Given the description of an element on the screen output the (x, y) to click on. 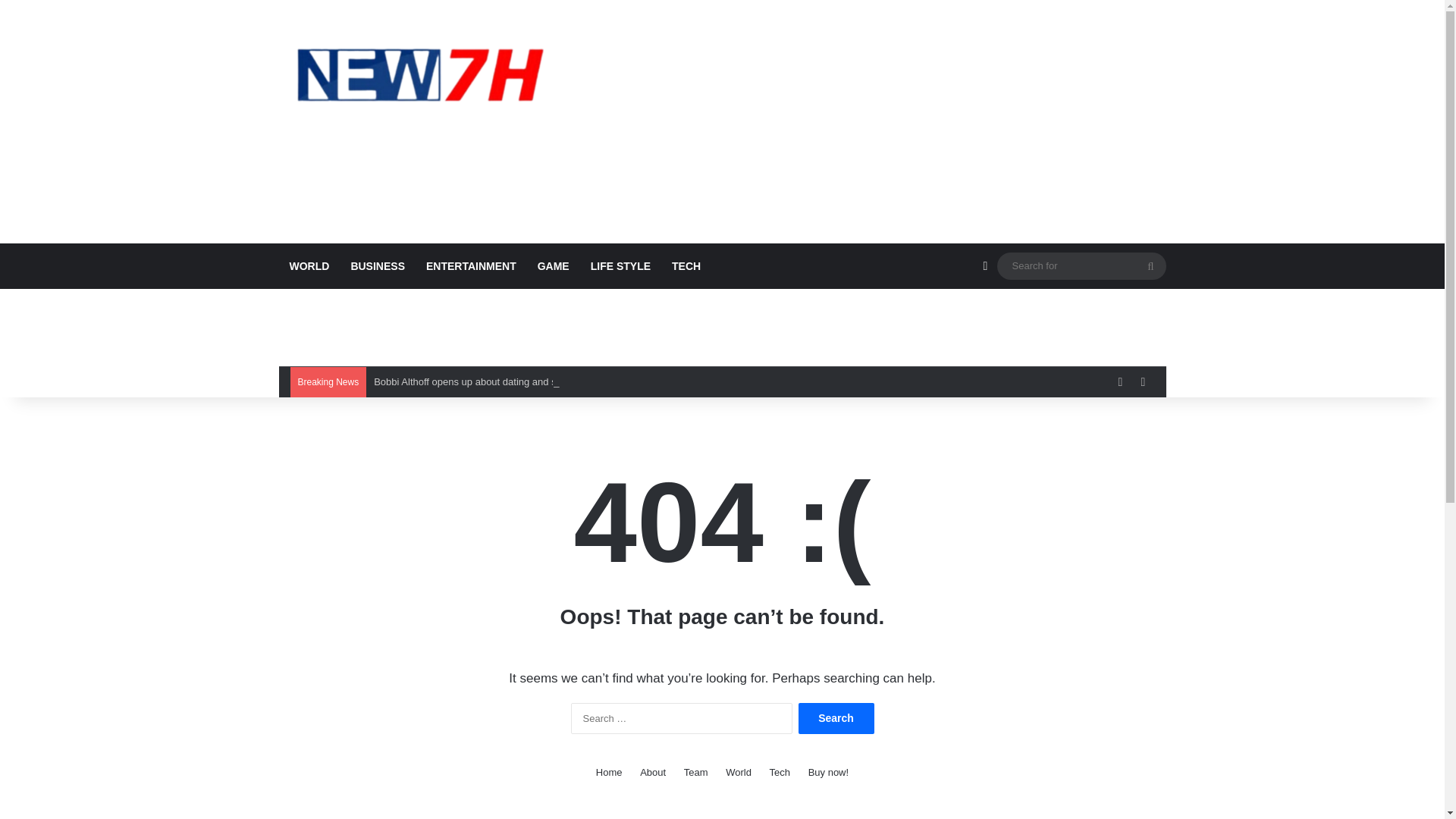
Buy now! (828, 772)
TECH (686, 266)
Search (835, 717)
Team (695, 772)
GAME (553, 266)
News7h (419, 73)
Buy now! (828, 772)
ENTERTAINMENT (470, 266)
Search for (1150, 266)
Search (835, 717)
WORLD (309, 266)
Tech (780, 772)
LIFE STYLE (620, 266)
Home (609, 772)
